Given the description of an element on the screen output the (x, y) to click on. 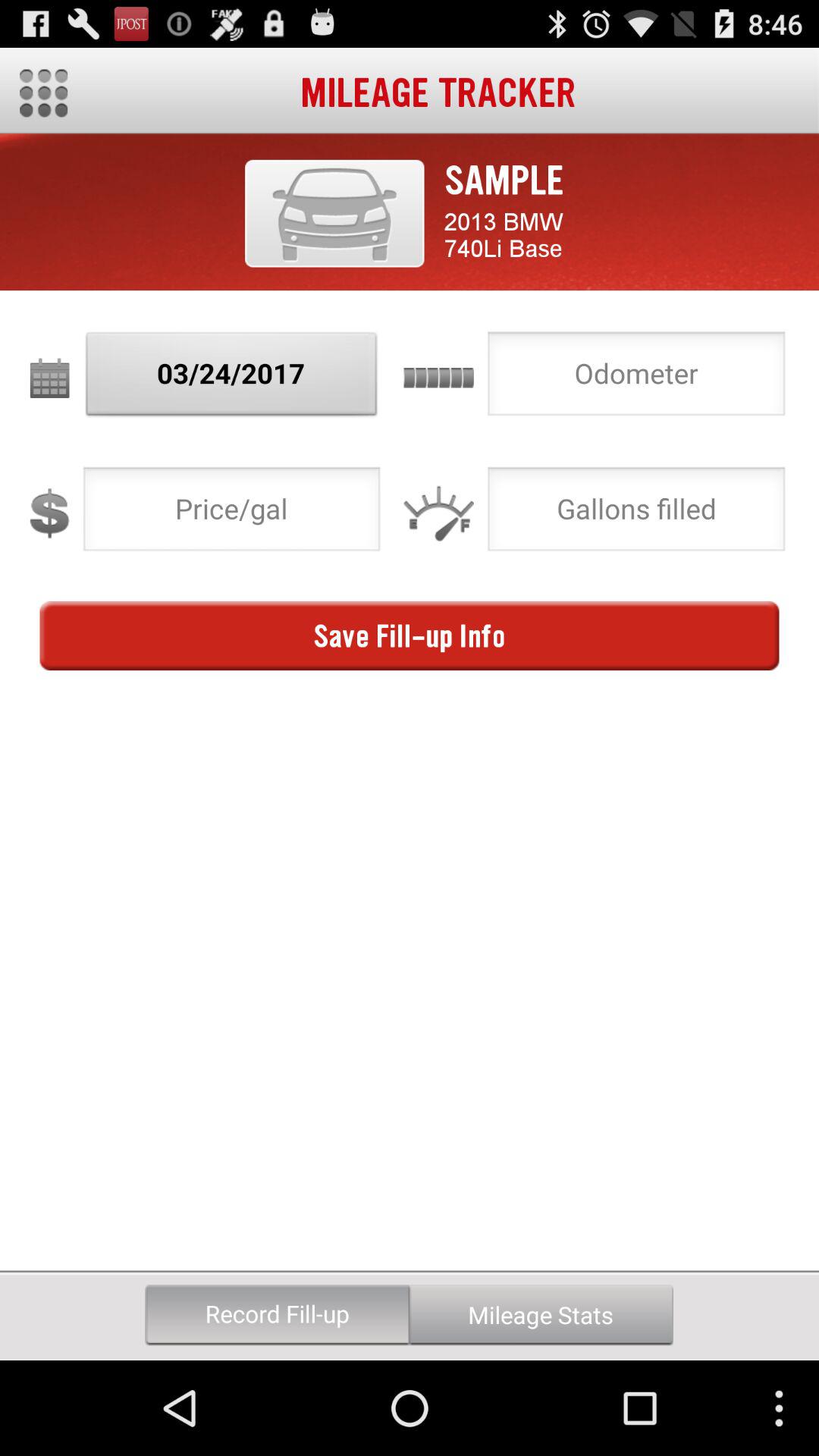
choose the mileage stats button (540, 1314)
